Given the description of an element on the screen output the (x, y) to click on. 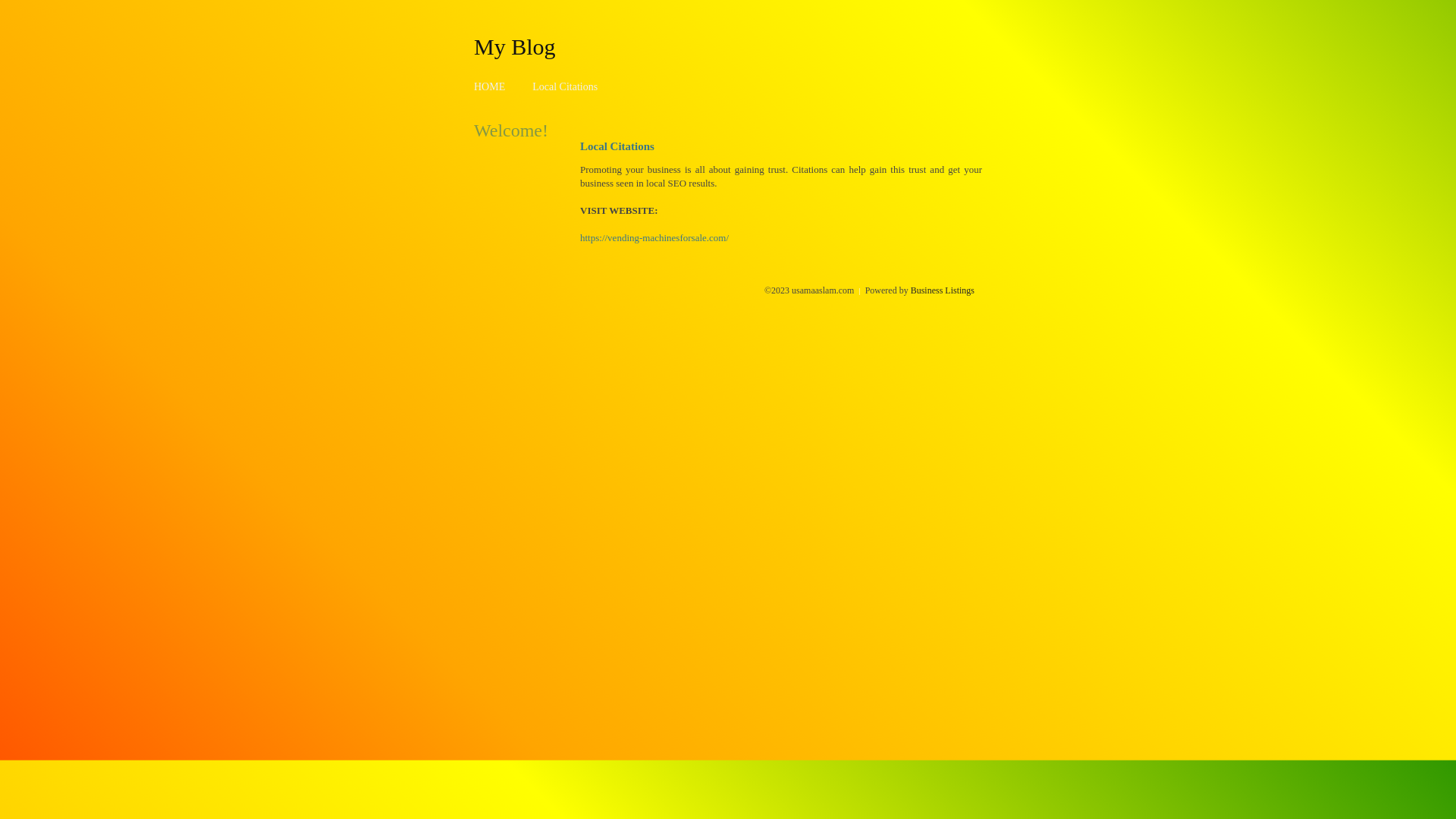
Business Listings Element type: text (942, 290)
Local Citations Element type: text (564, 86)
My Blog Element type: text (514, 46)
https://vending-machinesforsale.com/ Element type: text (654, 237)
HOME Element type: text (489, 86)
